Given the description of an element on the screen output the (x, y) to click on. 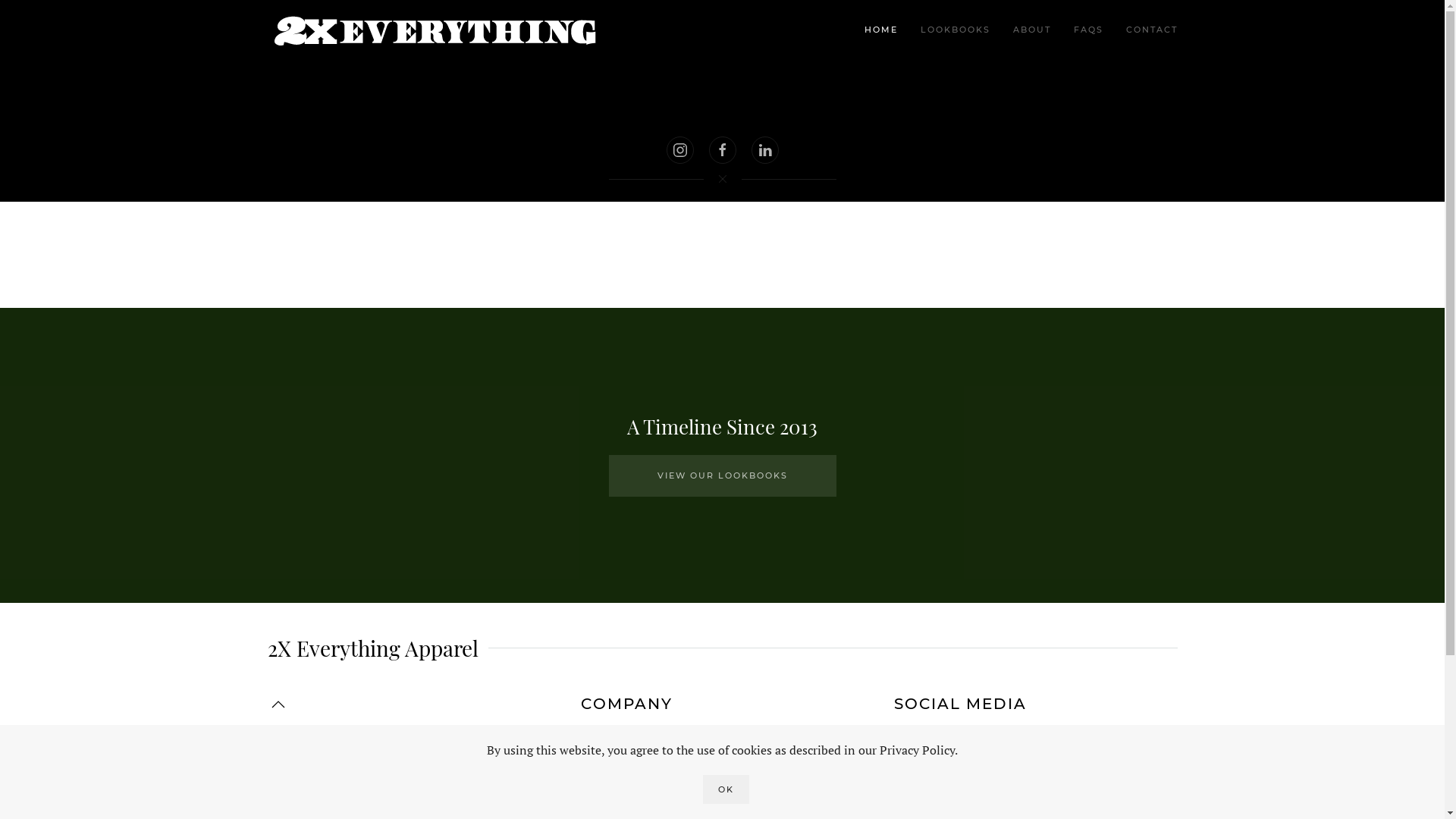
LOOKBOOKS Element type: text (954, 30)
FAQS Element type: text (1087, 30)
Facebook Element type: text (919, 774)
VIEW OUR LOOKBOOKS Element type: text (721, 475)
OK Element type: text (725, 789)
ABOUT Element type: text (1031, 30)
CONTACT Element type: text (1151, 30)
HOME Element type: text (880, 30)
Home Element type: text (596, 739)
Instagram Element type: text (921, 739)
About Us Element type: text (605, 774)
